Given the description of an element on the screen output the (x, y) to click on. 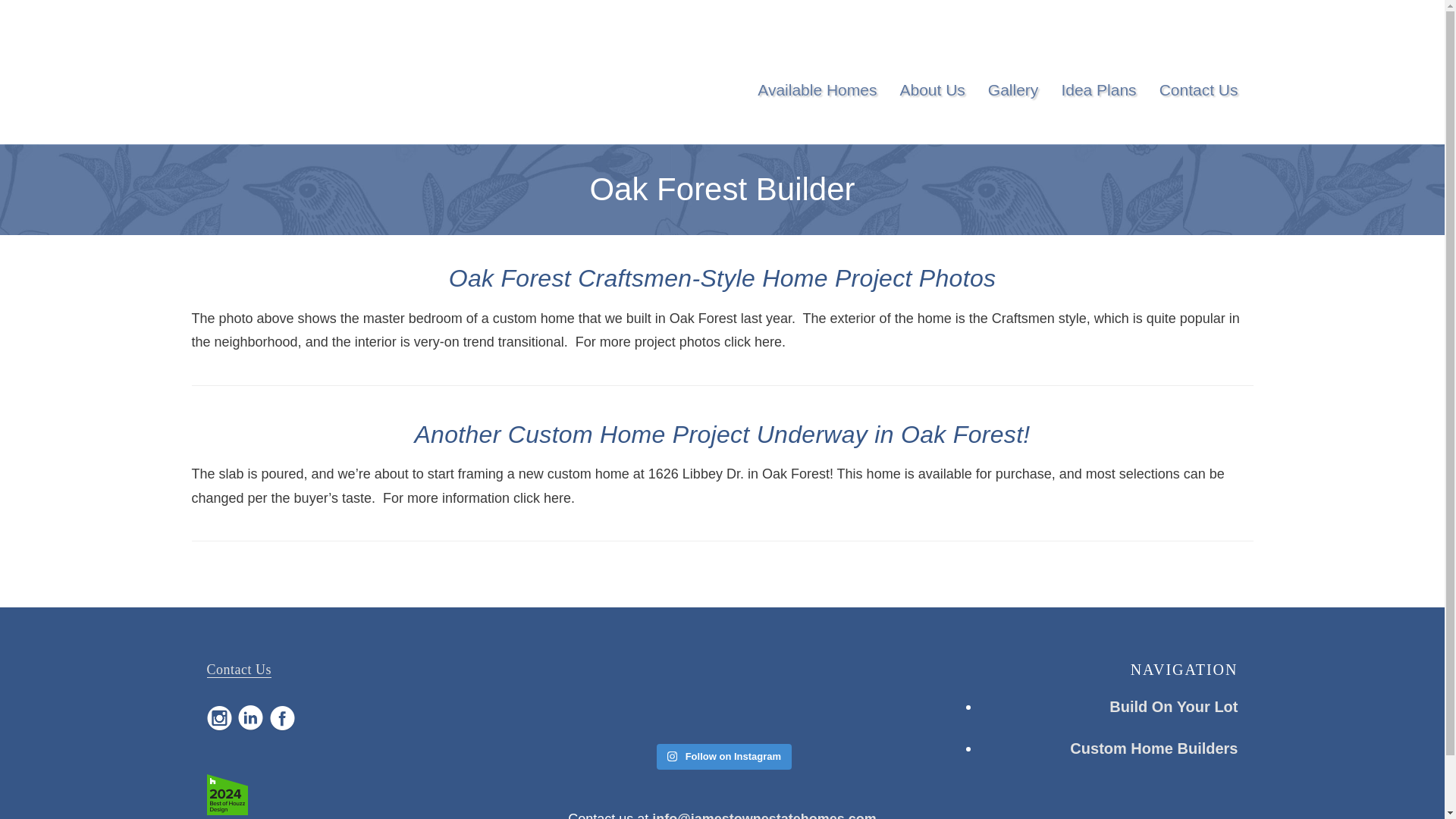
Available Homes (816, 90)
Idea Plans (1097, 90)
Contact Us (1198, 90)
Gallery (1012, 90)
JAMESTOWN ESTATE HOMES (293, 79)
About Us (931, 90)
